Given the description of an element on the screen output the (x, y) to click on. 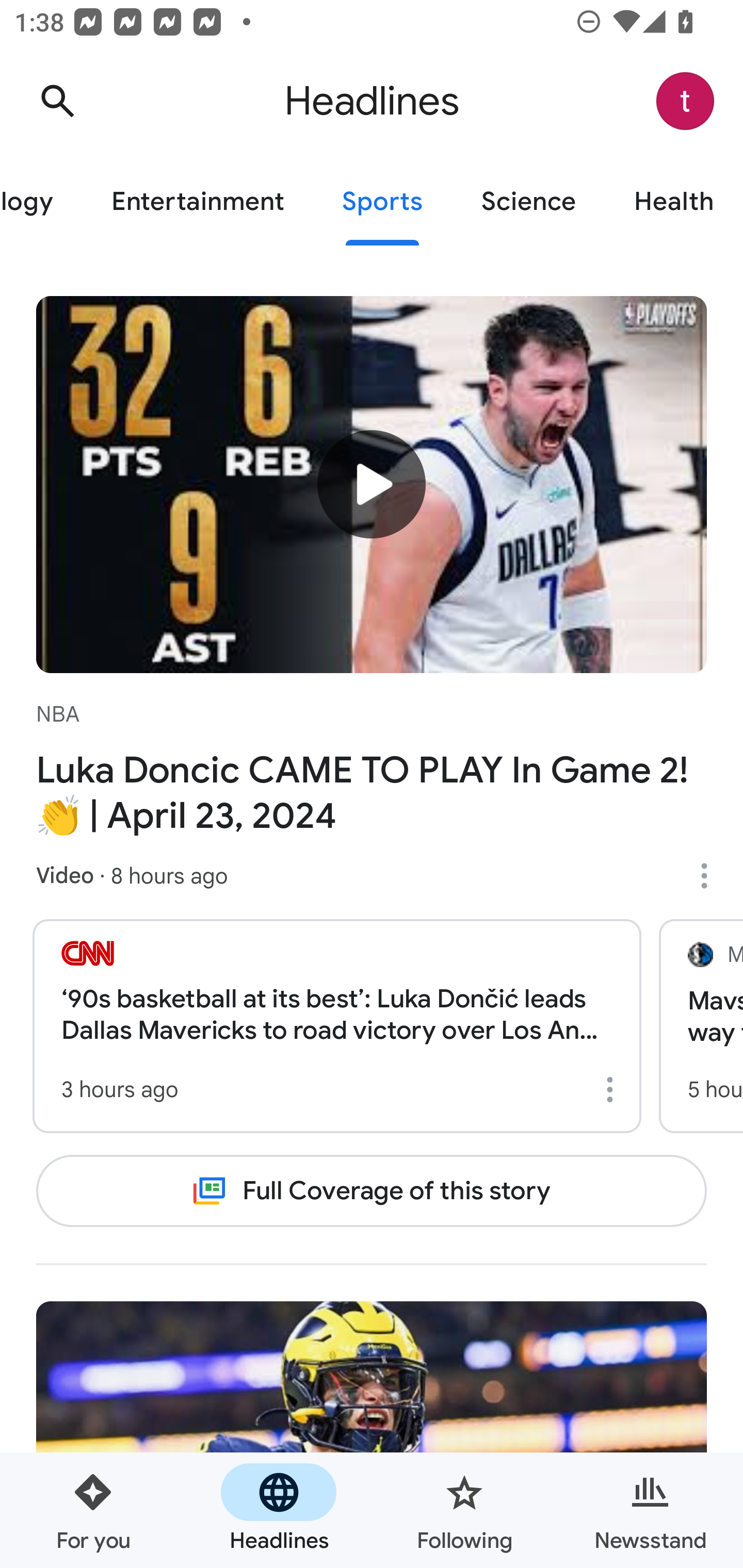
Search (57, 100)
Technology (40, 202)
Entertainment (197, 202)
Science (527, 202)
Health (673, 202)
Play (371, 483)
More options (711, 875)
More options (613, 1089)
Full Coverage of this story (371, 1191)
For you (92, 1509)
Headlines (278, 1509)
Following (464, 1509)
Newsstand (650, 1509)
